Given the description of an element on the screen output the (x, y) to click on. 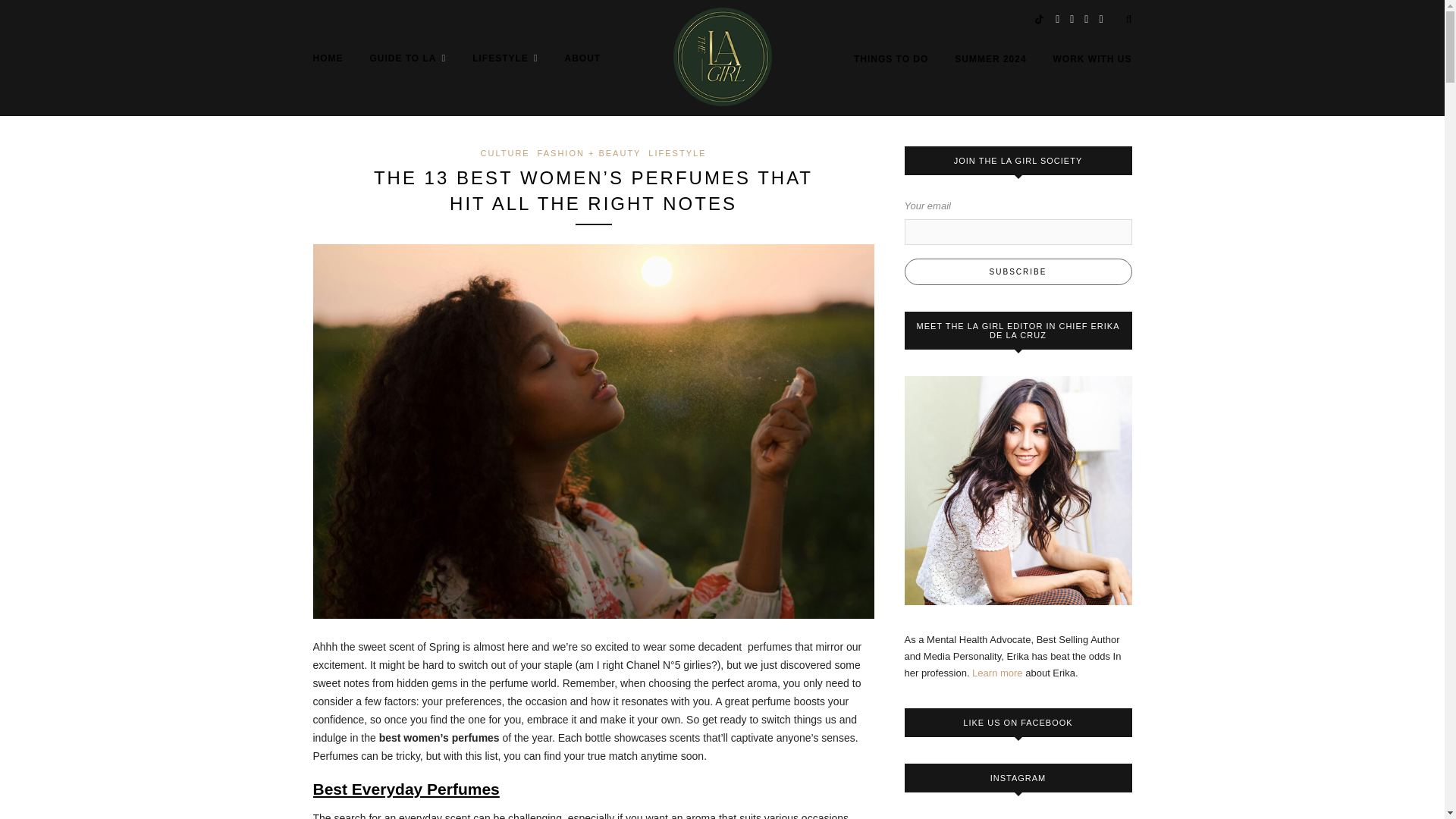
ABOUT (581, 58)
WORK WITH US (1091, 58)
THINGS TO DO (890, 58)
LIFESTYLE (504, 58)
HOME (327, 58)
Subscribe (1017, 271)
SUMMER 2024 (990, 58)
GUIDE TO LA (407, 58)
